Given the description of an element on the screen output the (x, y) to click on. 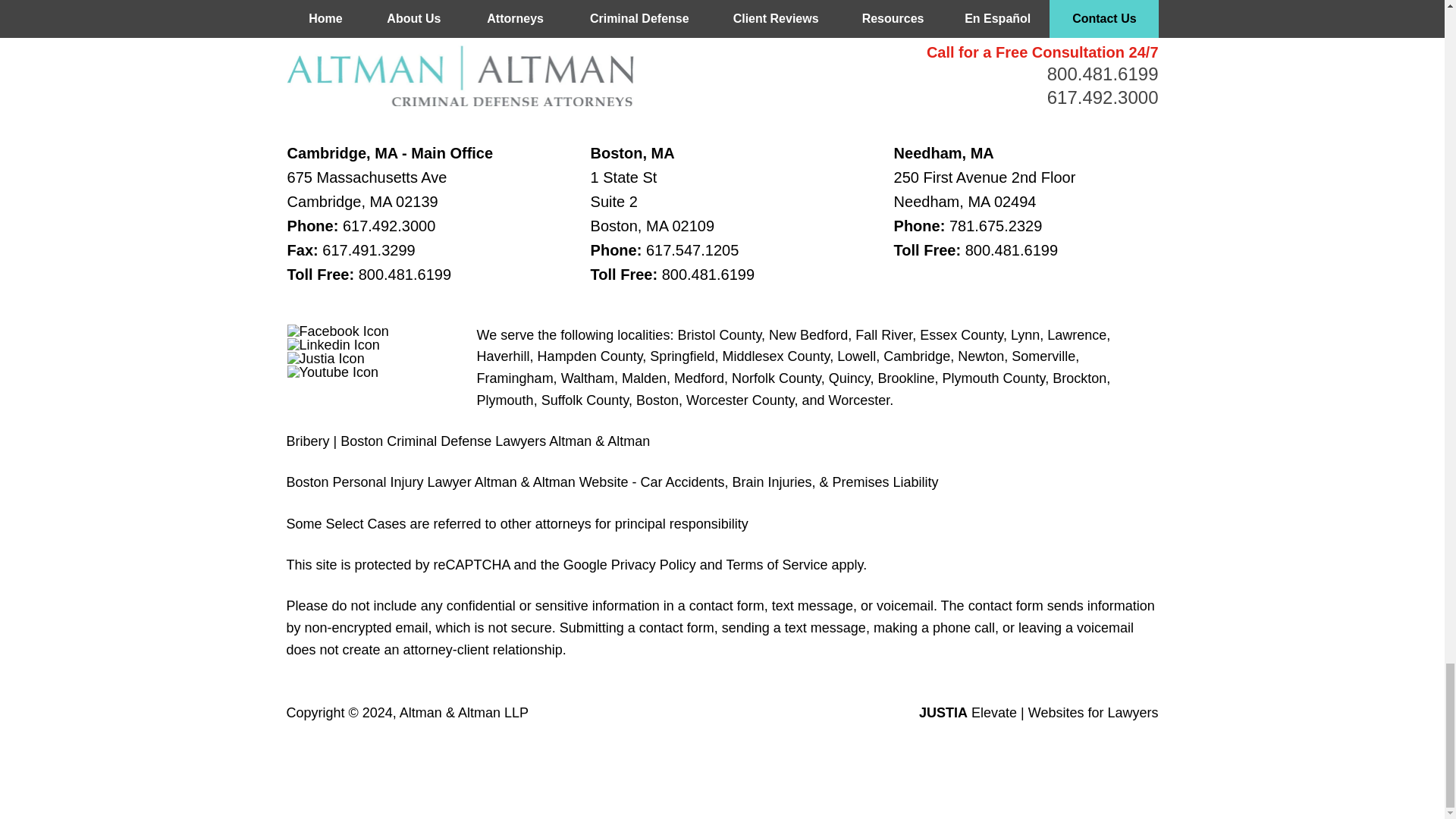
Justia (325, 358)
Youtube (332, 372)
Linkedin (333, 345)
Facebook (337, 331)
